Given the description of an element on the screen output the (x, y) to click on. 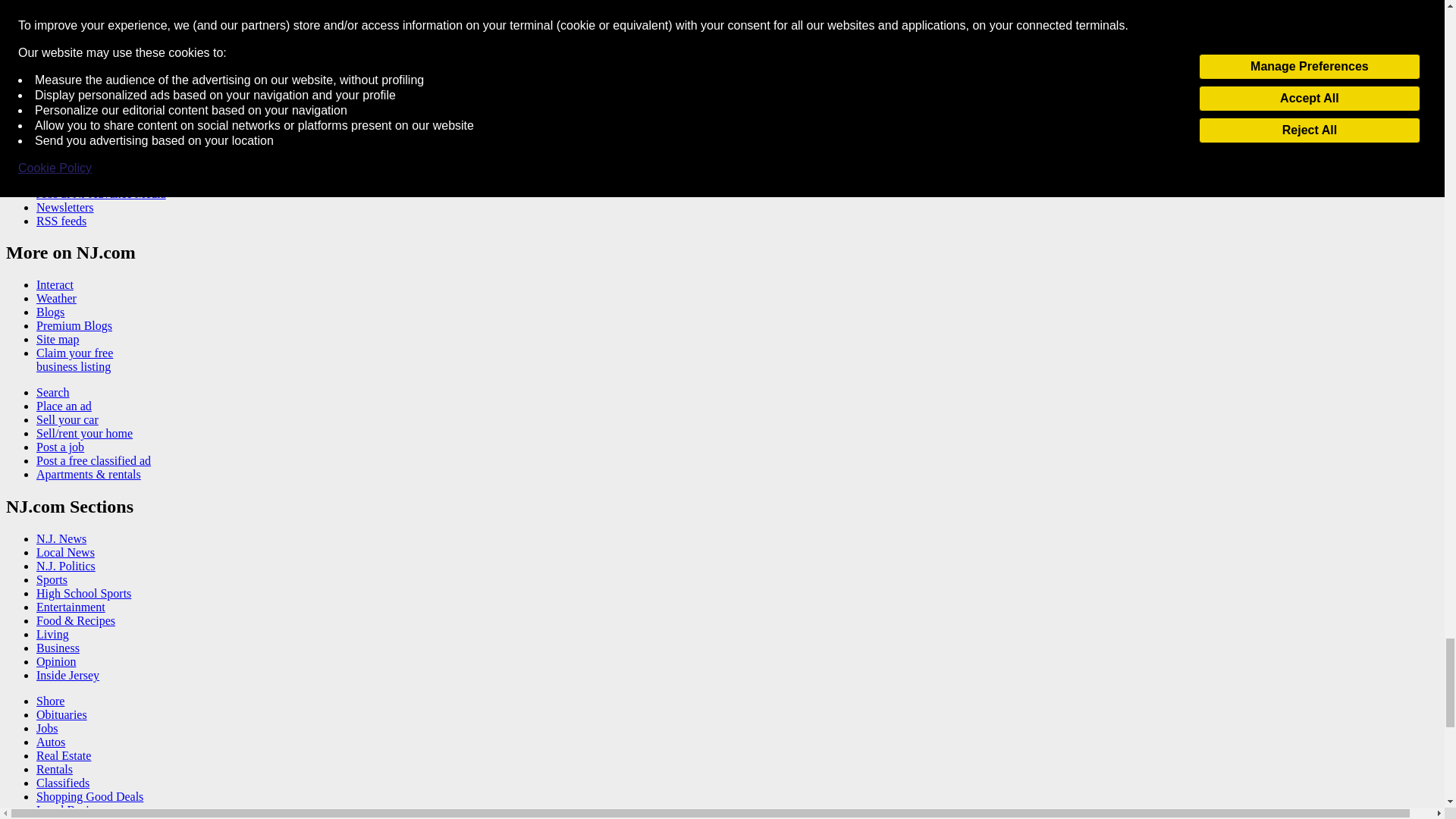
Contact Us (63, 167)
